Given the description of an element on the screen output the (x, y) to click on. 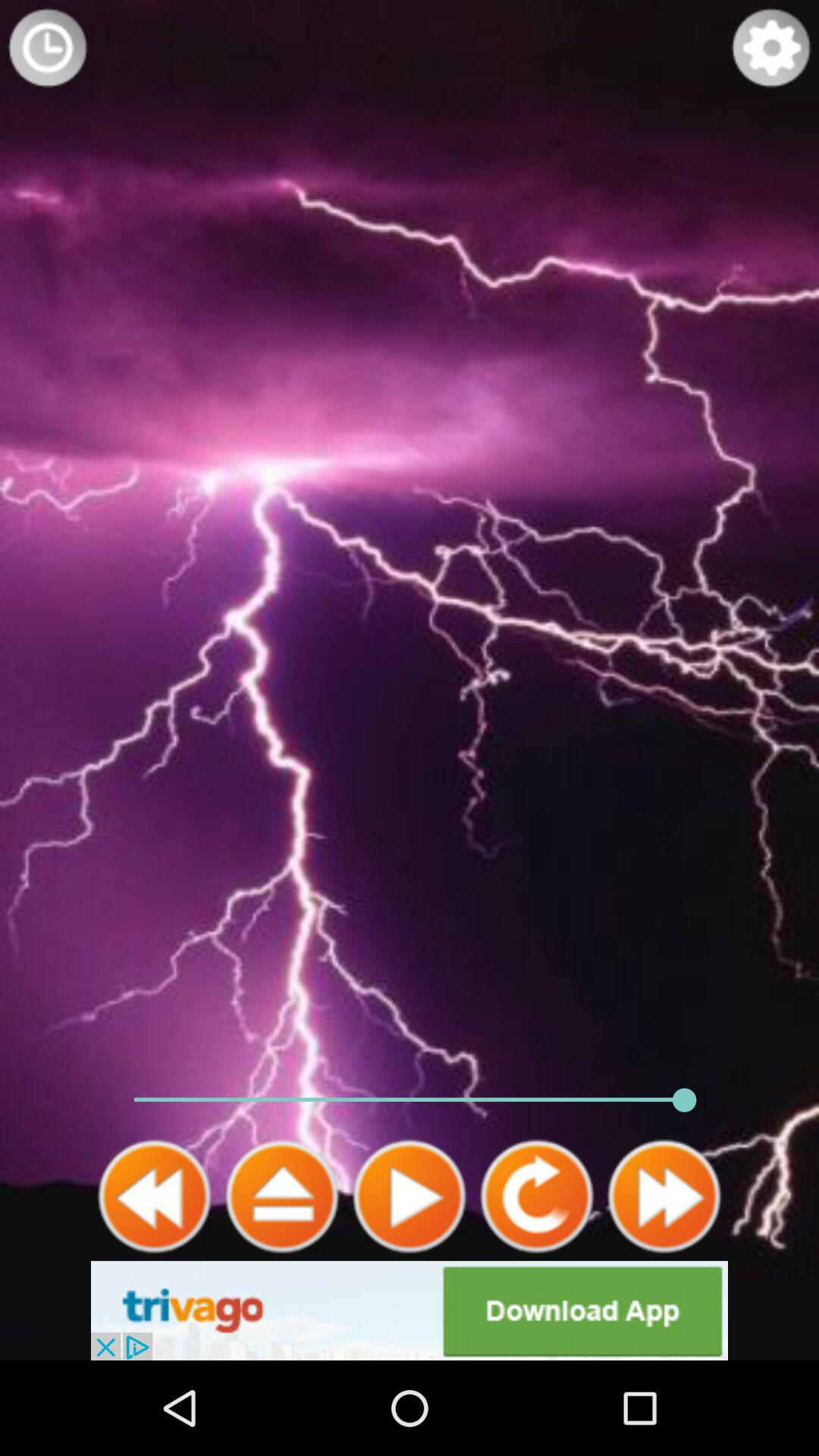
plays thunder sounds (409, 1196)
